Given the description of an element on the screen output the (x, y) to click on. 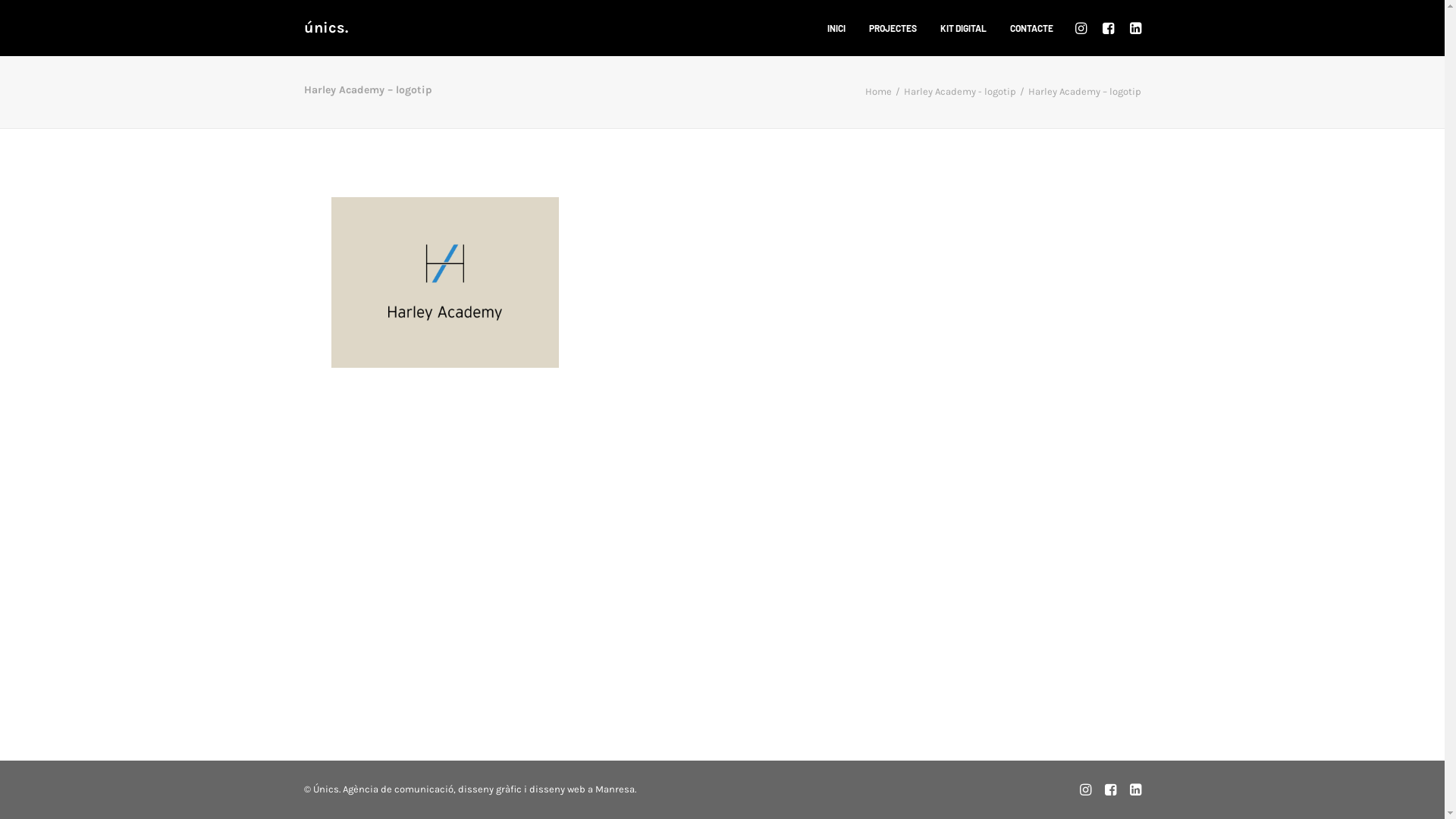
Home Element type: text (877, 91)
INICI Element type: text (835, 28)
CONTACTE Element type: text (1026, 28)
KIT DIGITAL Element type: text (963, 28)
Harley Academy - logotip Element type: text (959, 91)
PROJECTES Element type: text (892, 28)
